Given the description of an element on the screen output the (x, y) to click on. 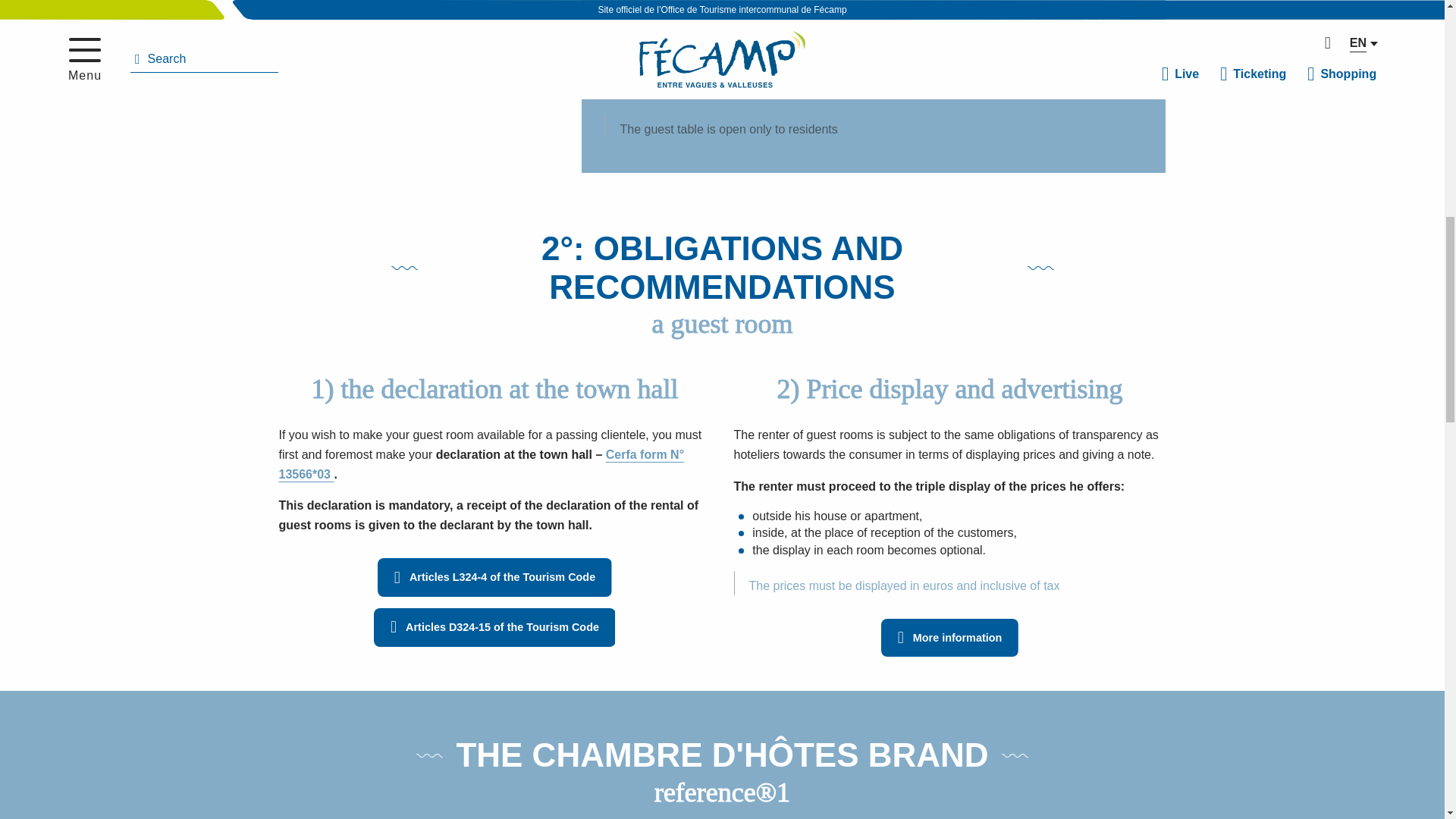
More information (948, 638)
Articles L324-4 of the Tourism Code (494, 577)
Articles D324-15 of the Tourism Code (494, 627)
